Given the description of an element on the screen output the (x, y) to click on. 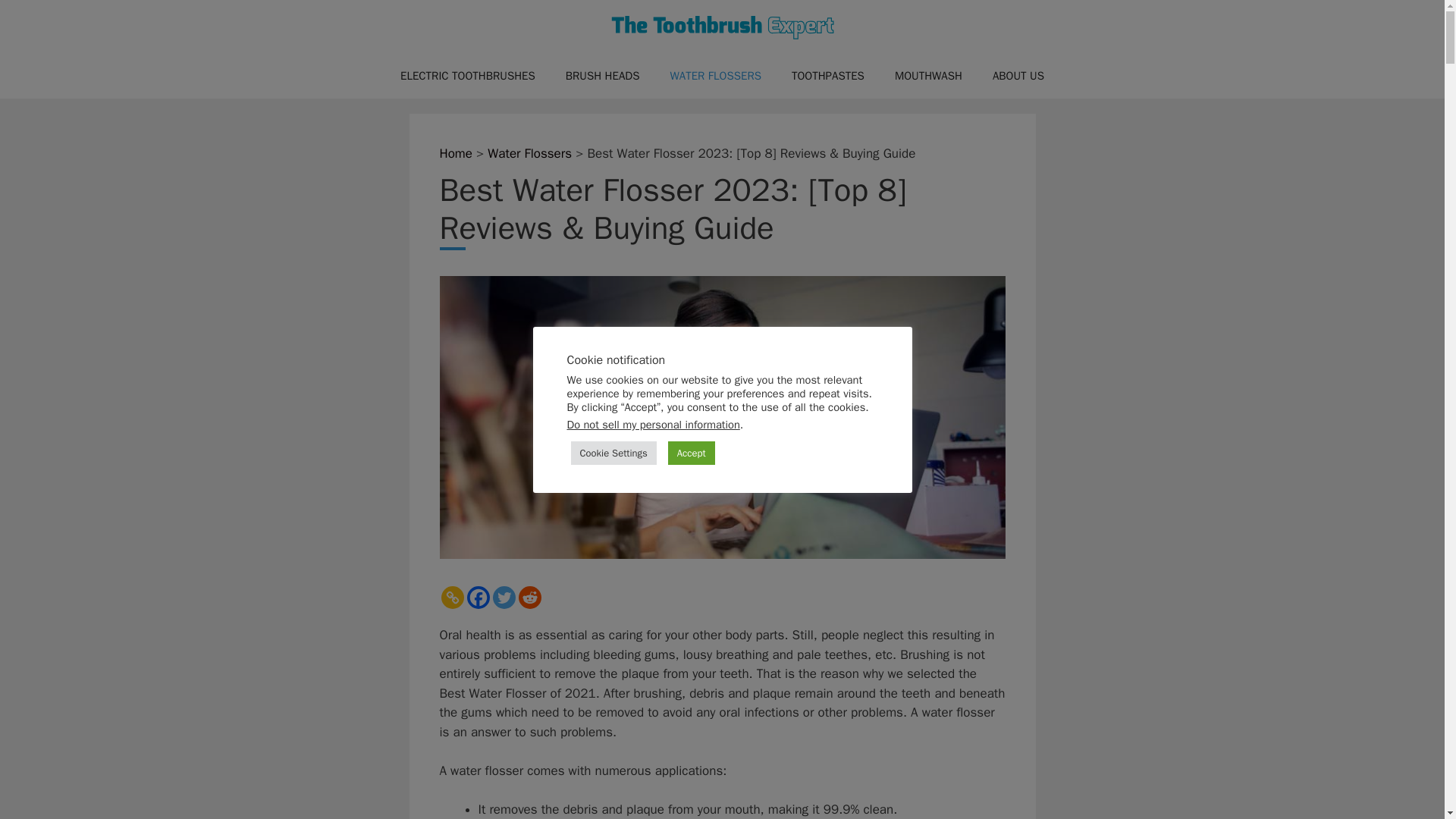
Facebook (478, 597)
ABOUT US (1017, 75)
MOUTHWASH (927, 75)
ELECTRIC TOOTHBRUSHES (467, 75)
BRUSH HEADS (602, 75)
Reddit (529, 597)
Twitter (504, 597)
Copy Link (452, 597)
WATER FLOSSERS (714, 75)
TOOTHPASTES (827, 75)
Home (455, 153)
Water Flossers (529, 153)
